Given the description of an element on the screen output the (x, y) to click on. 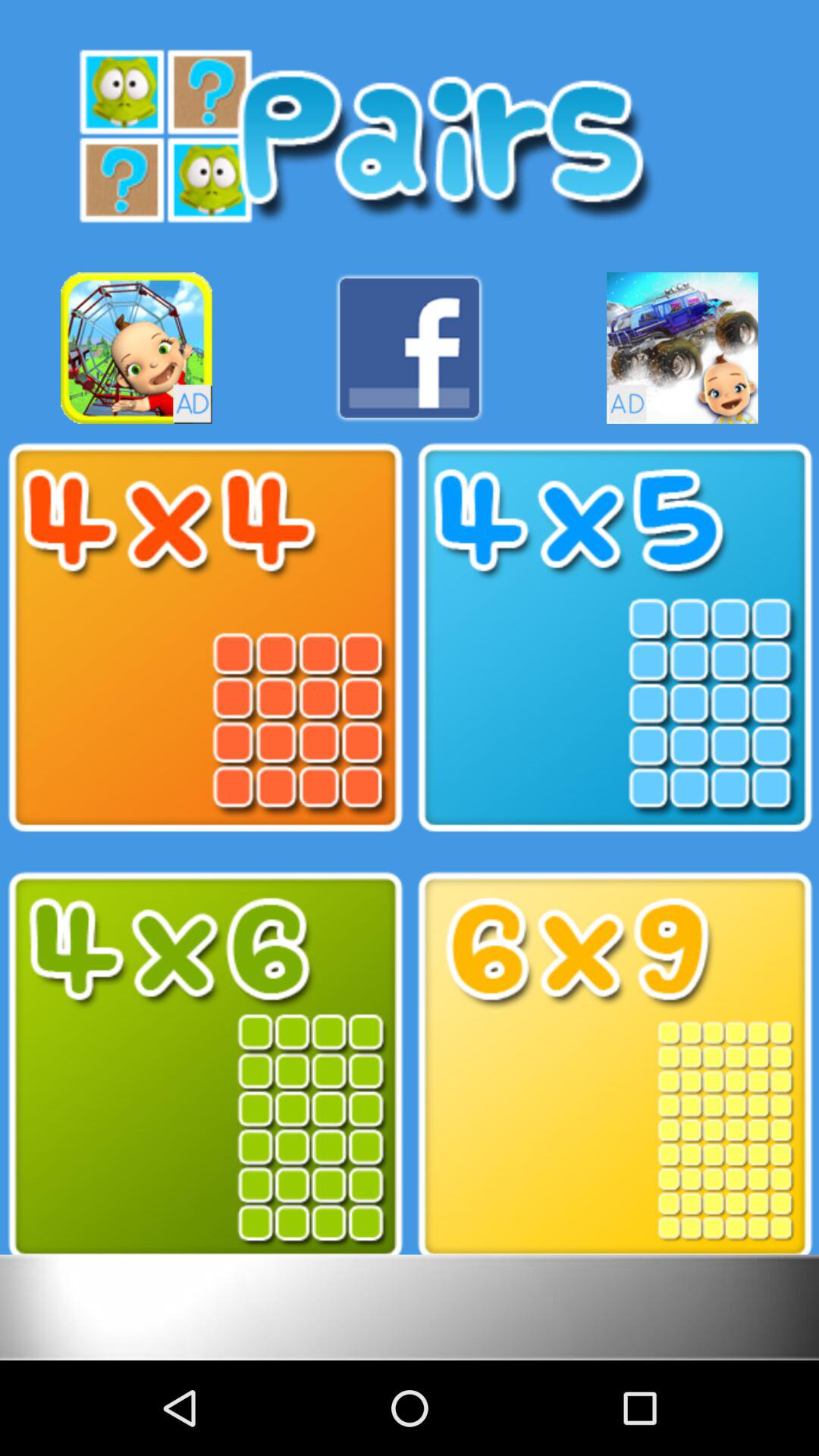
advertising icon (136, 347)
